Given the description of an element on the screen output the (x, y) to click on. 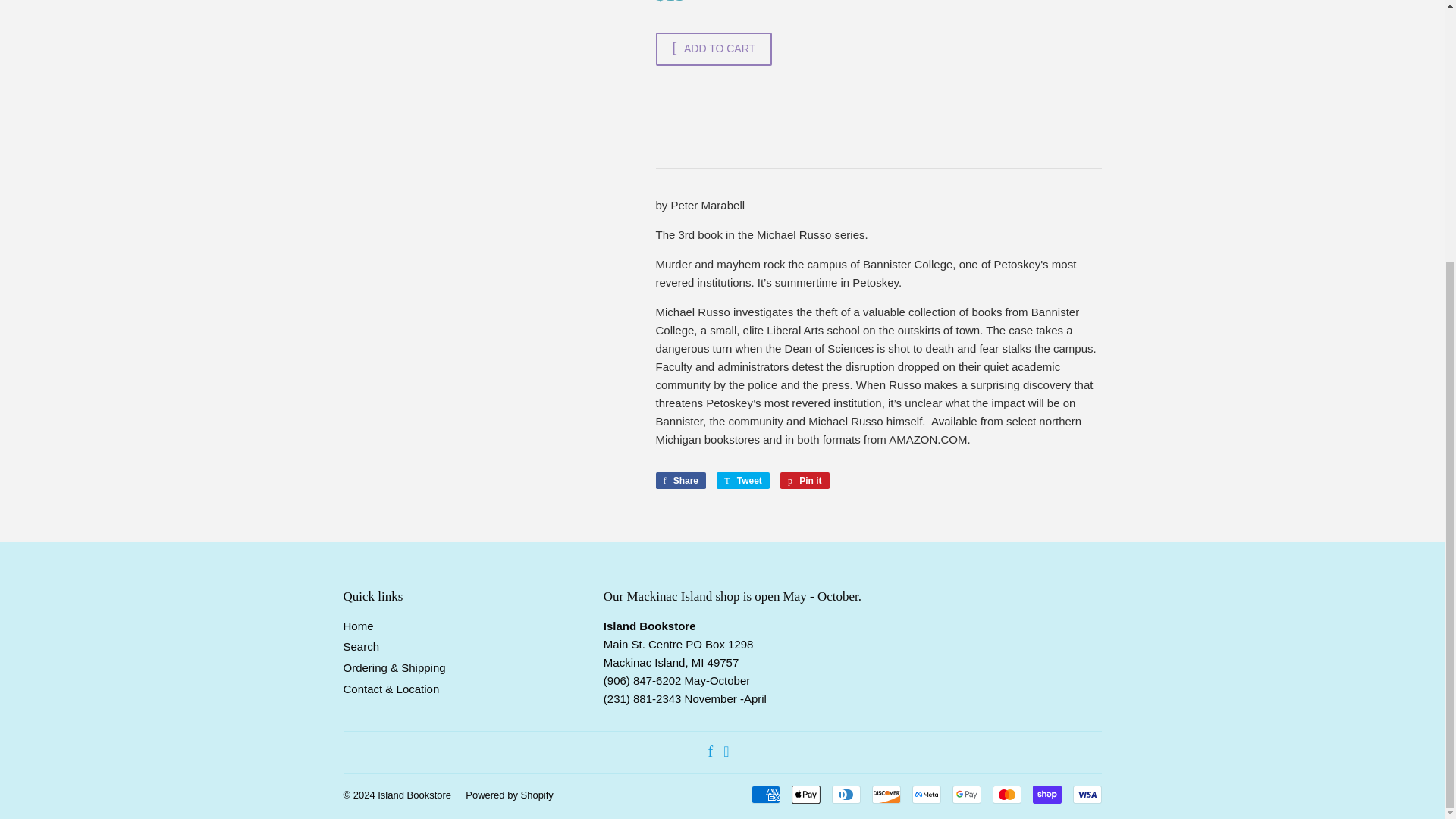
Visa (1085, 794)
Pin on Pinterest (804, 480)
Share on Facebook (680, 480)
Diners Club (845, 794)
Google Pay (966, 794)
Shop Pay (1046, 794)
Discover (886, 794)
Apple Pay (806, 794)
American Express (764, 794)
Meta Pay (925, 794)
